Given the description of an element on the screen output the (x, y) to click on. 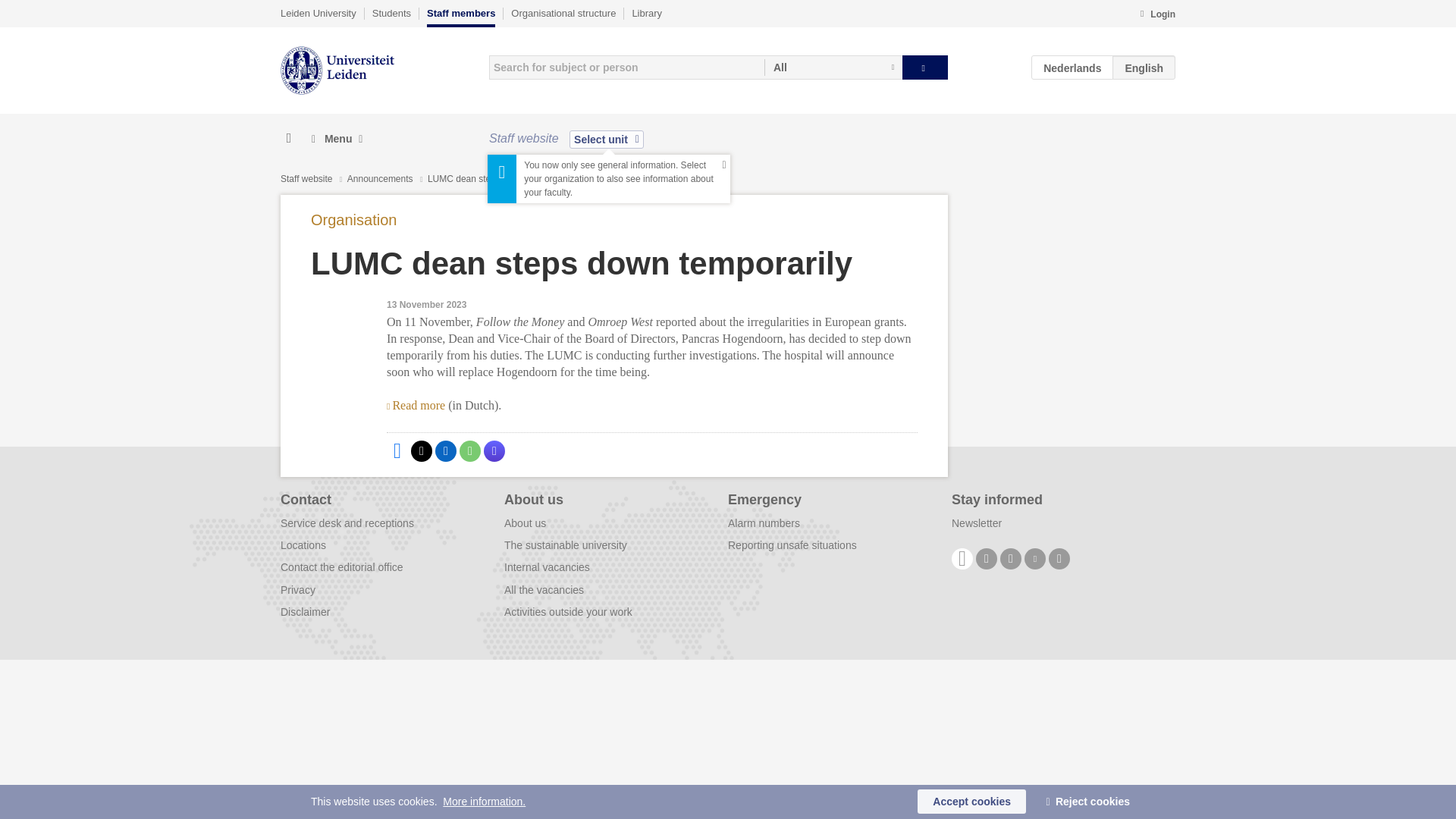
NL (1071, 67)
Organisational structure (563, 13)
Share on Facebook (397, 450)
Leiden University (318, 13)
Select unit (606, 139)
Staff members (460, 17)
Students (391, 13)
Share on X (421, 450)
Login (1157, 14)
Share by WhatsApp (470, 450)
All (833, 67)
Share on LinkedIn (446, 450)
Library (646, 13)
Menu (336, 139)
Search (925, 67)
